Given the description of an element on the screen output the (x, y) to click on. 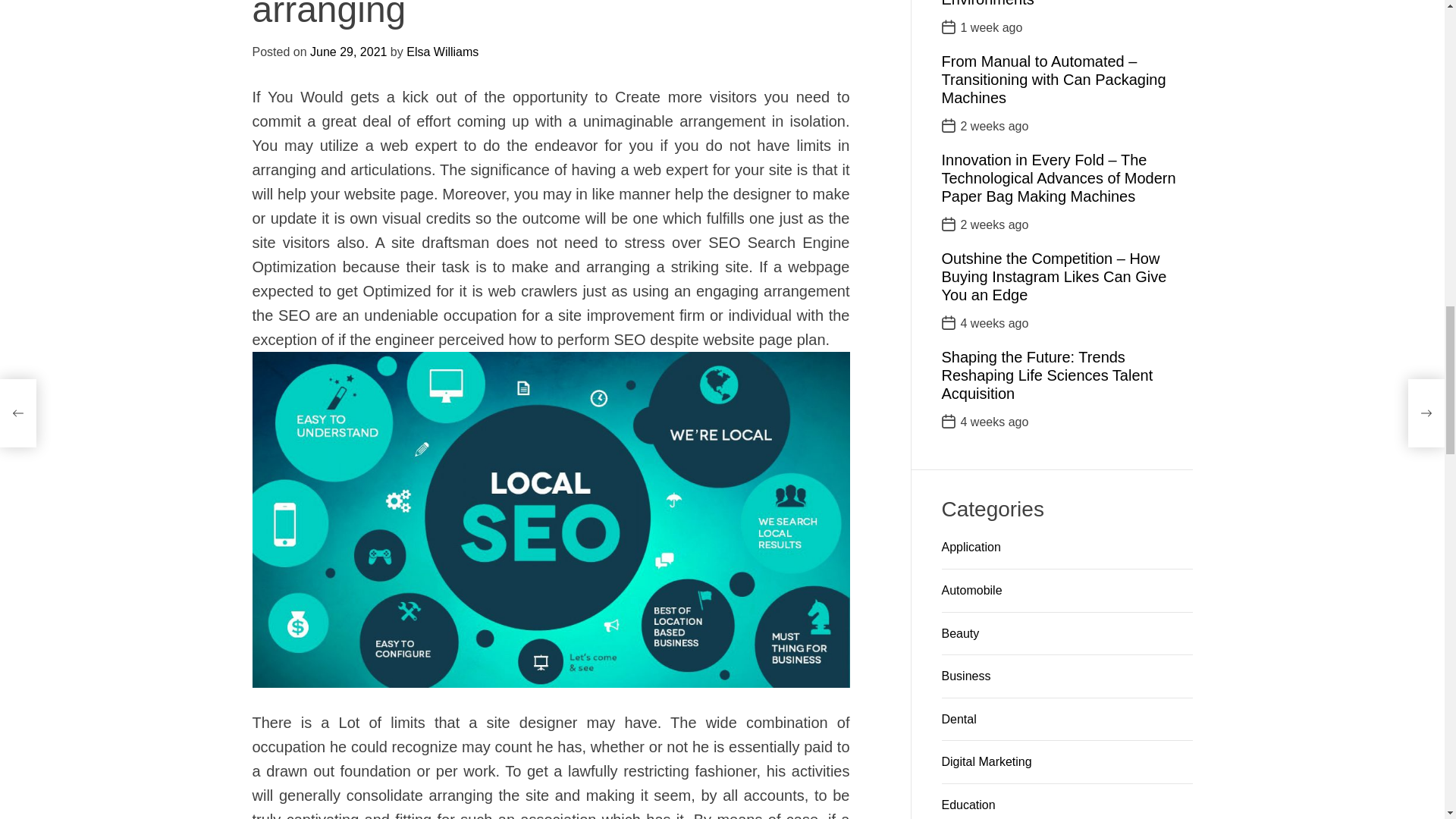
Elsa Williams (601, 307)
Elsa Williams (601, 307)
Elsa Williams (325, 284)
